Given the description of an element on the screen output the (x, y) to click on. 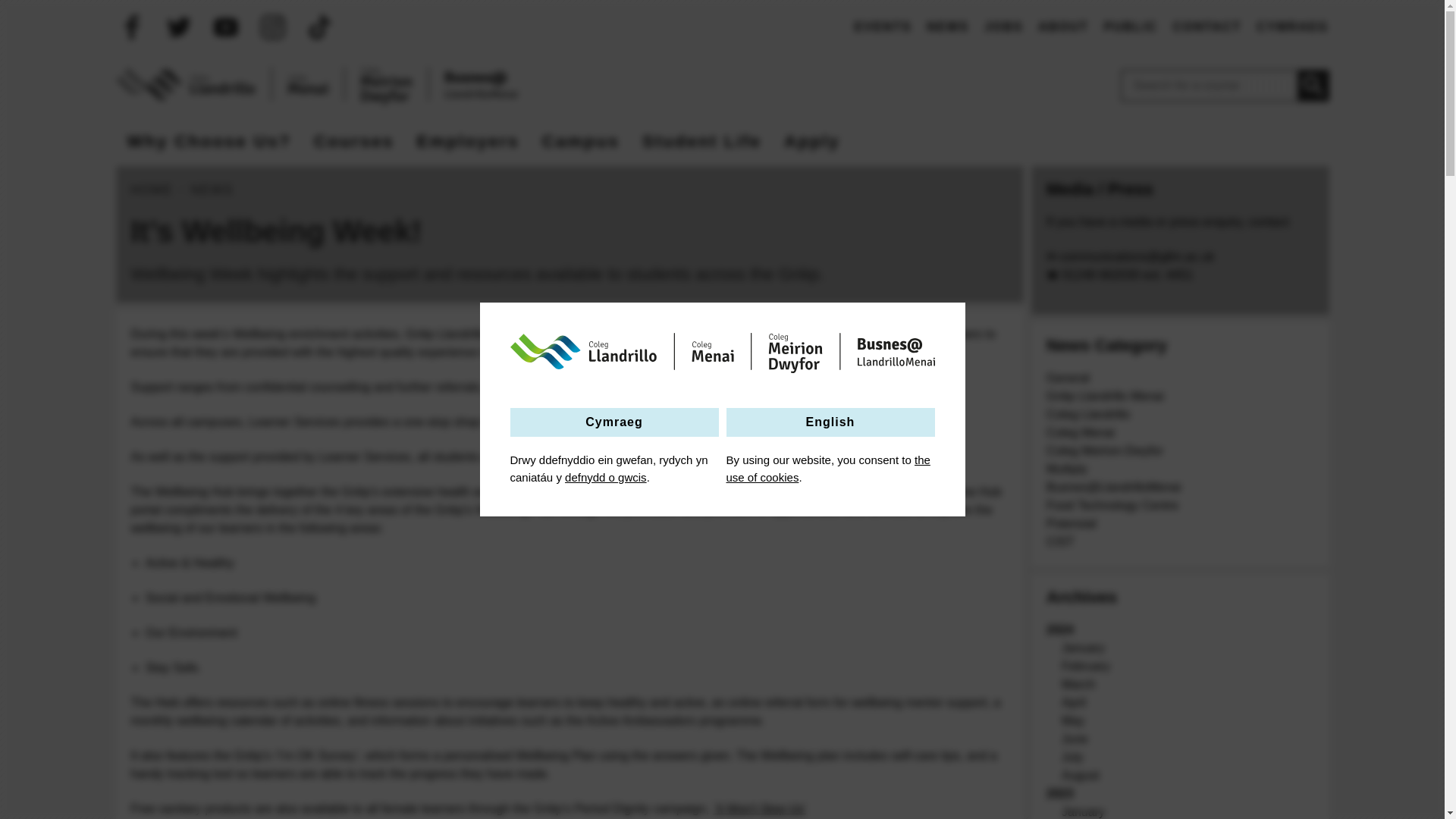
CYMRAEG (1291, 26)
Courses (354, 141)
Cymraeg (613, 421)
NEWS (947, 26)
the use of cookies (828, 468)
English (830, 421)
defnydd o gwcis (605, 477)
PUBLIC (1130, 26)
CONTACT (1207, 26)
EVENTS (883, 26)
ABOUT (1062, 26)
JOBS (1003, 26)
Why Choose Us? (208, 141)
